Given the description of an element on the screen output the (x, y) to click on. 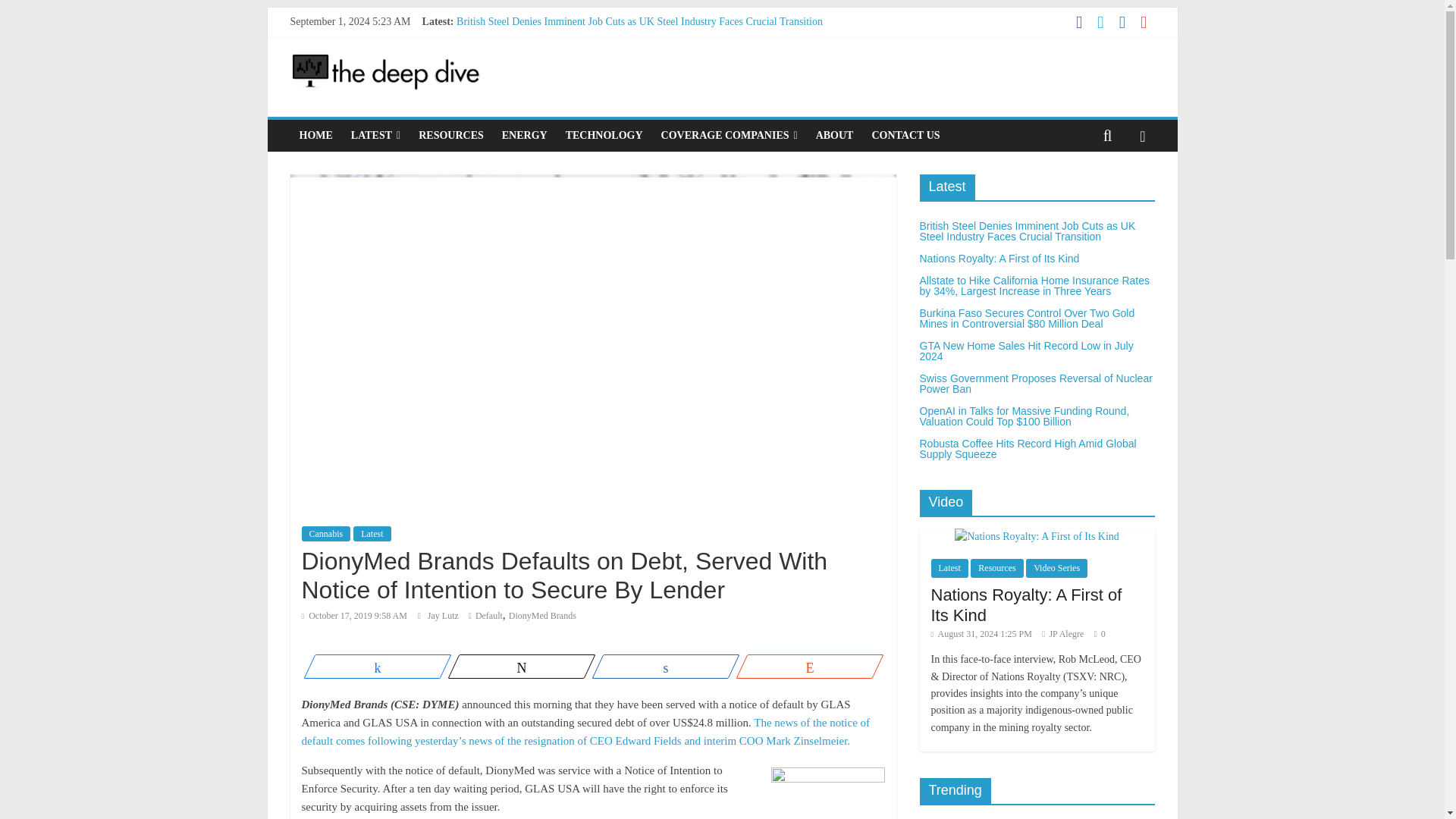
Nations Royalty: A First of Its Kind (532, 38)
HOME (314, 135)
Nations Royalty: A First of Its Kind (532, 38)
LATEST (375, 135)
GTA New Home Sales Hit Record Low in July 2024 (568, 89)
GTA New Home Sales Hit Record Low in July 2024 (568, 89)
ENERGY (524, 135)
TECHNOLOGY (604, 135)
